Given the description of an element on the screen output the (x, y) to click on. 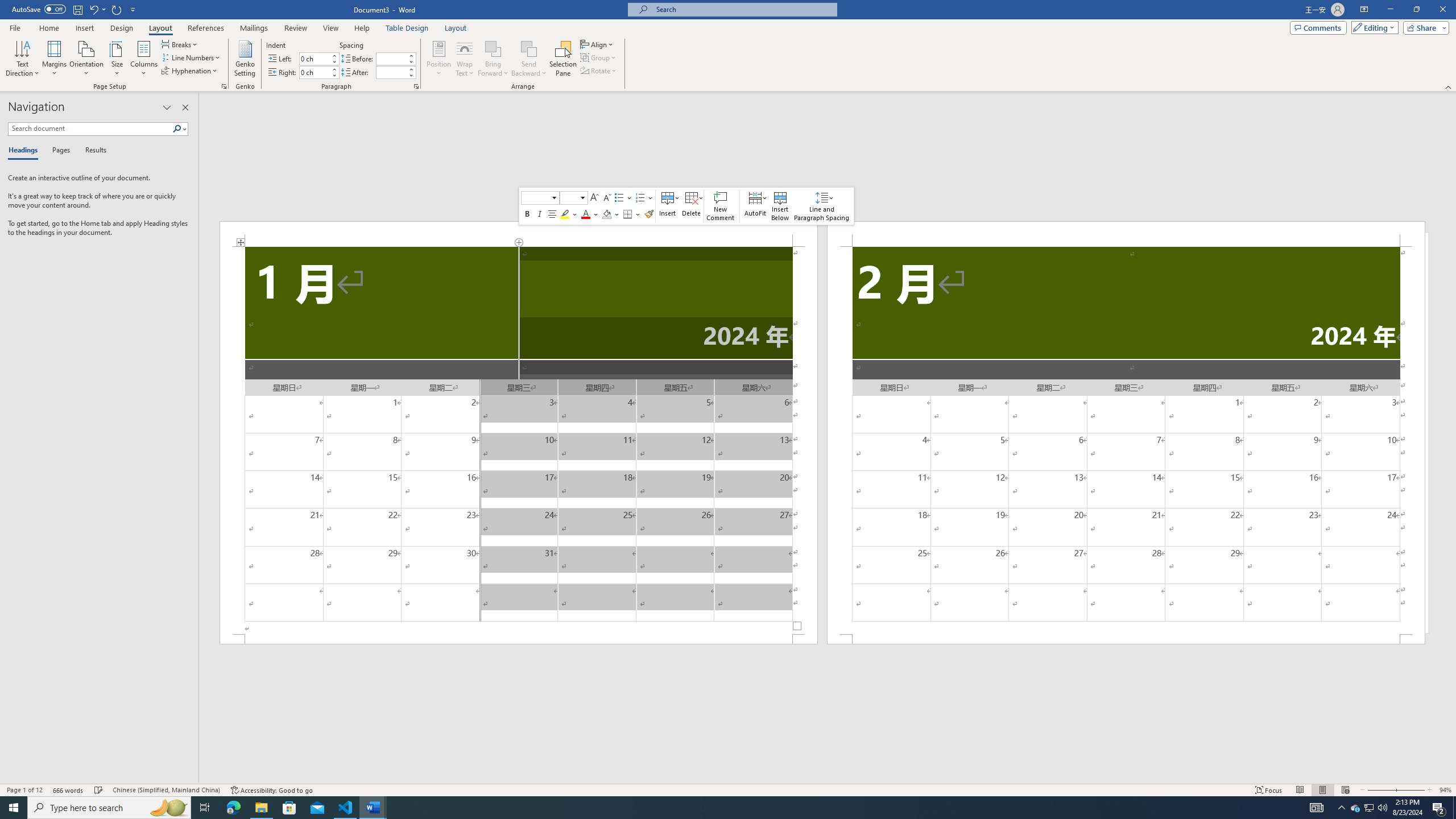
Class: NetUIComboboxAnchor (573, 197)
Rotate (599, 69)
Class: NetUITextbox (569, 197)
Spacing Before (391, 58)
